Given the description of an element on the screen output the (x, y) to click on. 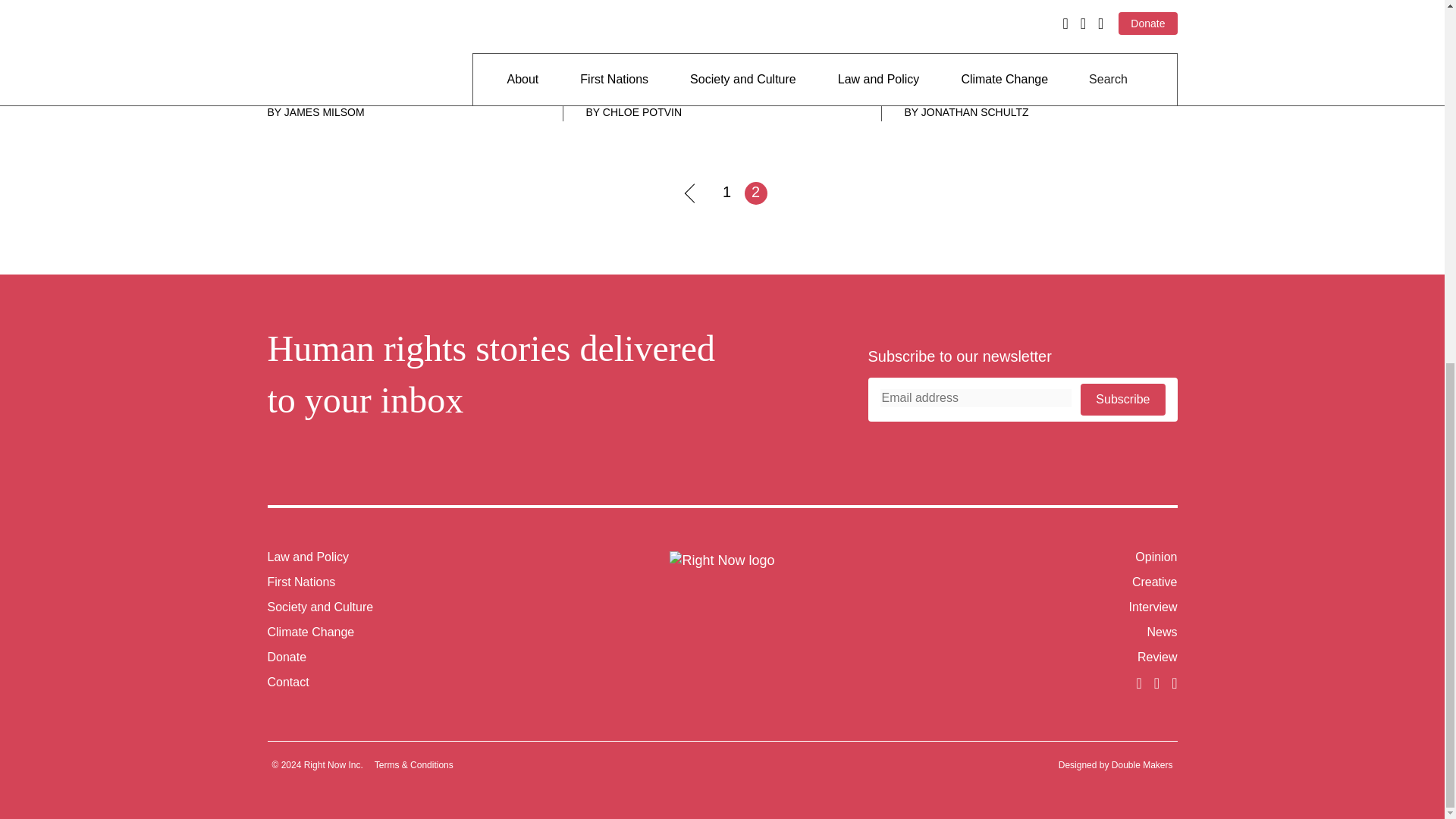
Climate Change (309, 631)
JONATHAN SCHULTZ (975, 111)
First Nations (300, 581)
Subscribe (1122, 399)
Donate (413, 657)
JAMES MILSOM (324, 111)
Law and Policy (307, 556)
Subscribe (1122, 399)
Society and Culture (319, 606)
Contact (413, 682)
